Given the description of an element on the screen output the (x, y) to click on. 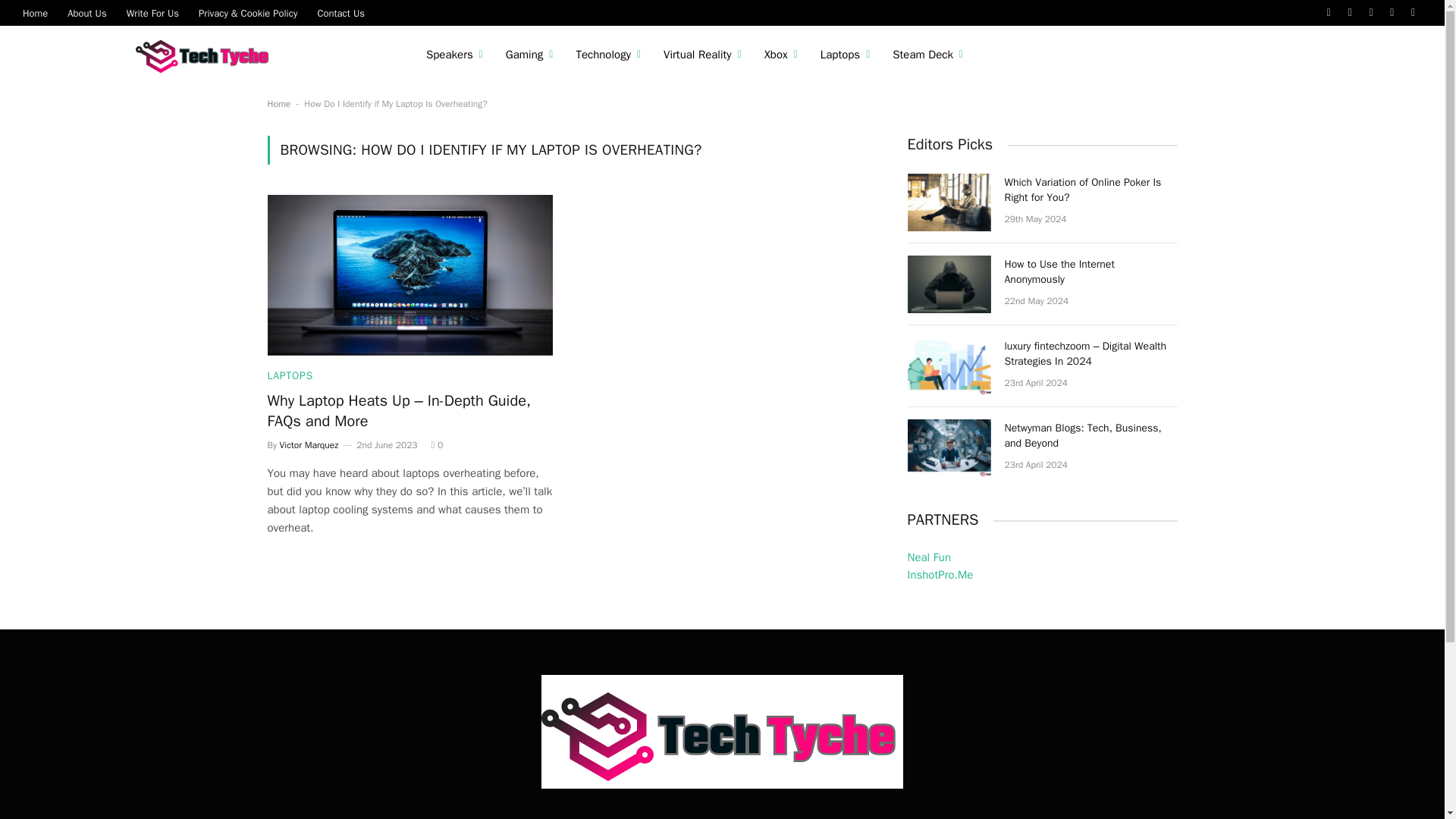
How to Use the Internet Anonymously (948, 283)
Which Variation of Online Poker Is Right for You? (948, 201)
Write For Us (152, 12)
Facebook (1329, 12)
Posts by Victor Marquez (309, 444)
Pinterest (1391, 12)
Speakers (454, 54)
Netwyman Blogs: Tech, Business, and Beyond (948, 447)
Contact Us (340, 12)
Gaming (529, 54)
VKontakte (1413, 12)
About Us (87, 12)
Home (35, 12)
Instagram (1371, 12)
